Given the description of an element on the screen output the (x, y) to click on. 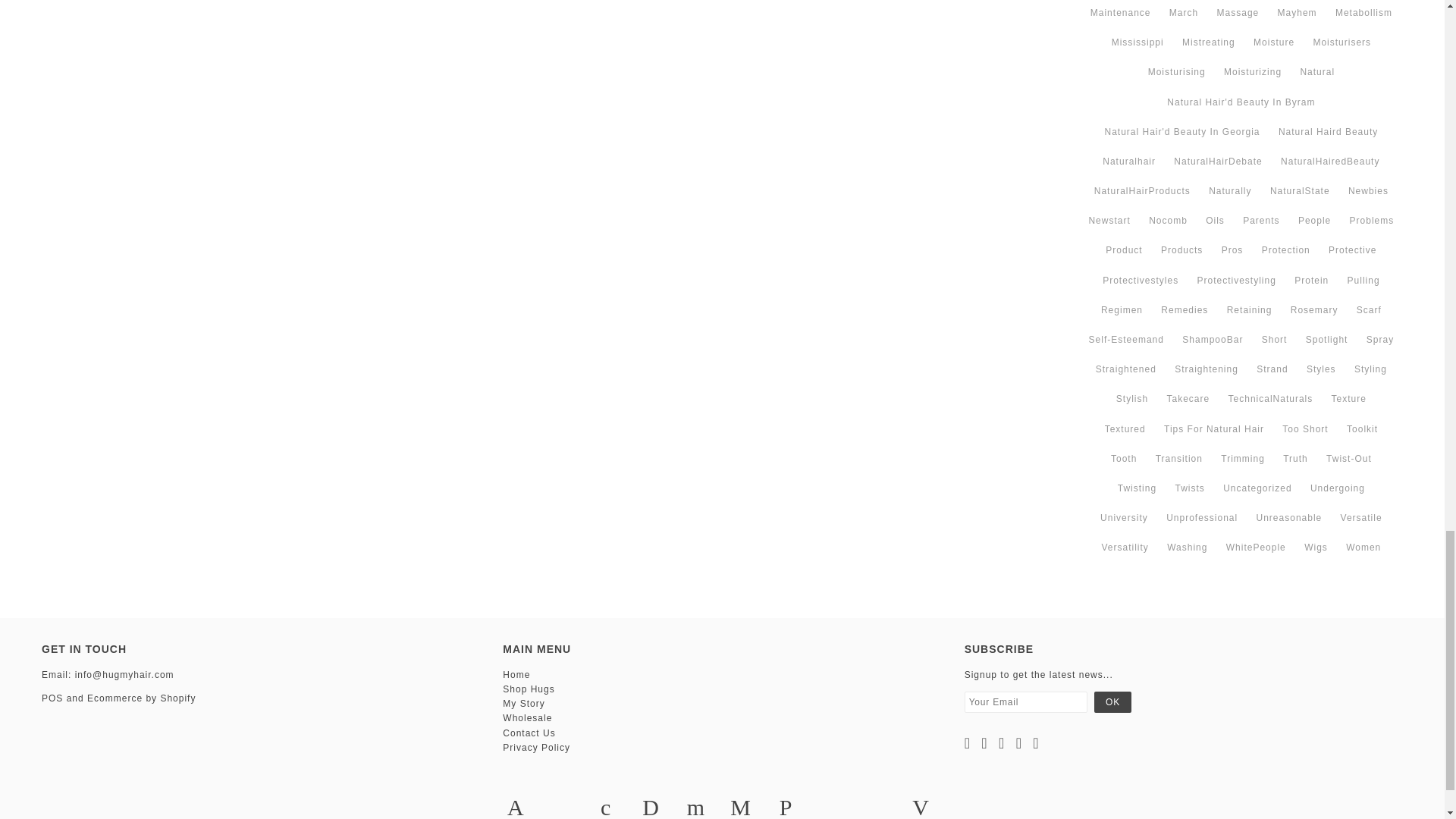
OK (1112, 701)
